Given the description of an element on the screen output the (x, y) to click on. 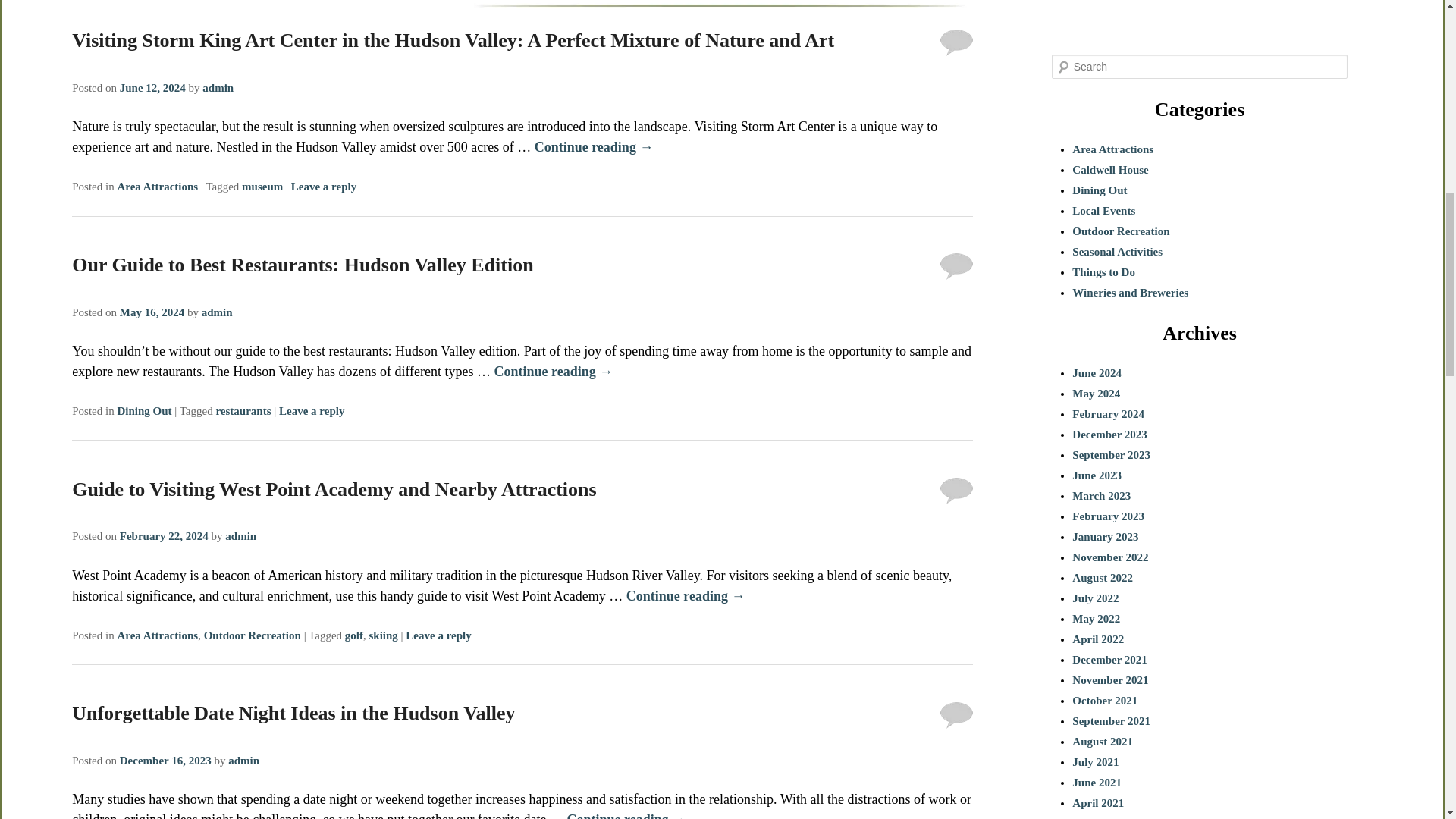
View all posts by admin (240, 535)
View all posts by admin (217, 312)
View all posts by admin (217, 87)
5:15 pm (151, 312)
7:20 pm (163, 535)
6:30 pm (152, 87)
